Given the description of an element on the screen output the (x, y) to click on. 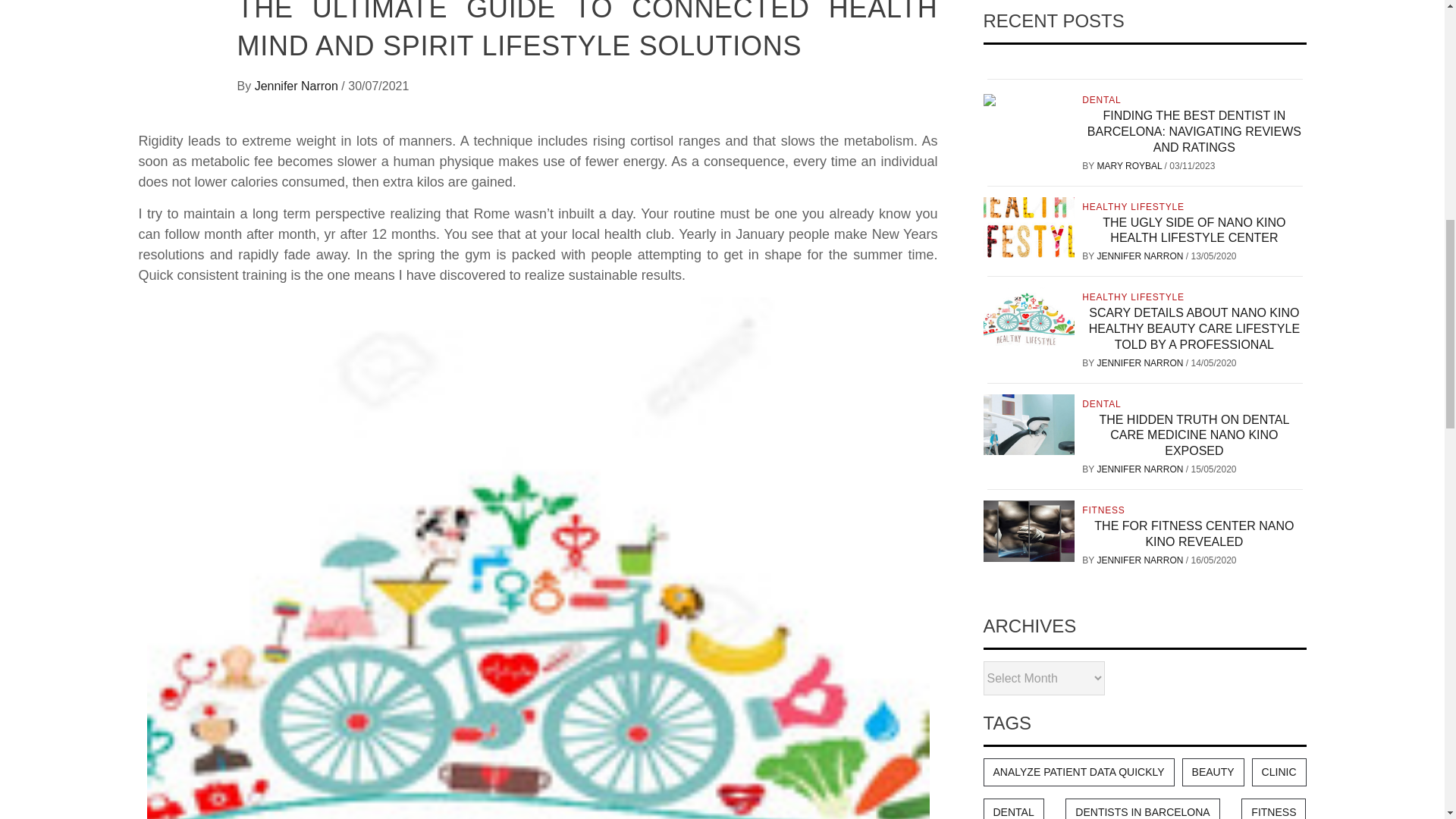
Jennifer Narron (298, 85)
